Given the description of an element on the screen output the (x, y) to click on. 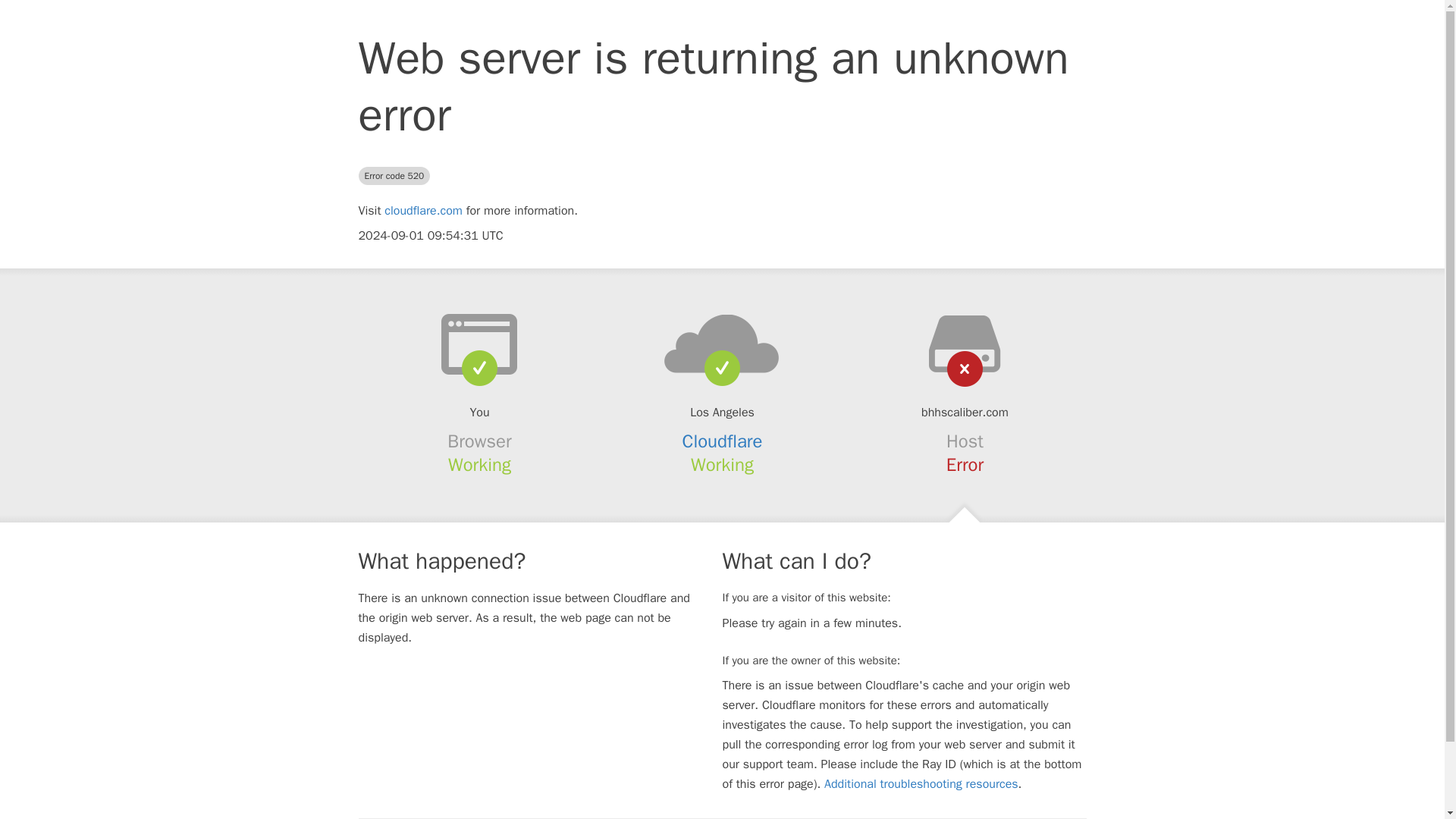
cloudflare.com (423, 210)
Additional troubleshooting resources (920, 783)
Cloudflare (722, 440)
